Given the description of an element on the screen output the (x, y) to click on. 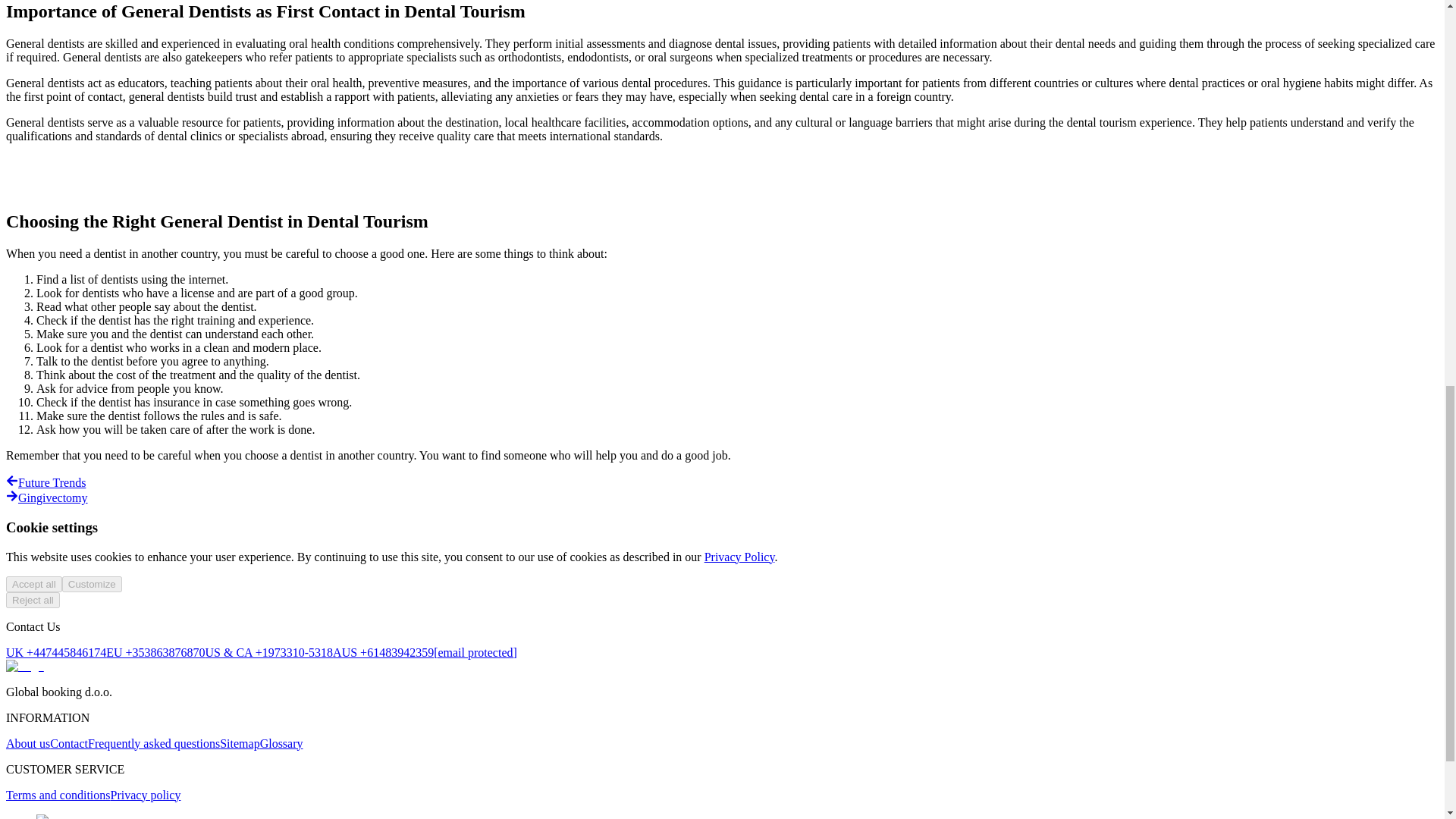
Frequently asked questions (153, 743)
Privacy Policy (739, 556)
Customize (92, 584)
Glossary (281, 743)
Contact (68, 743)
About us (27, 743)
Privacy policy (145, 794)
Reject all (32, 600)
Accept all (33, 584)
Terms and conditions (57, 794)
